Given the description of an element on the screen output the (x, y) to click on. 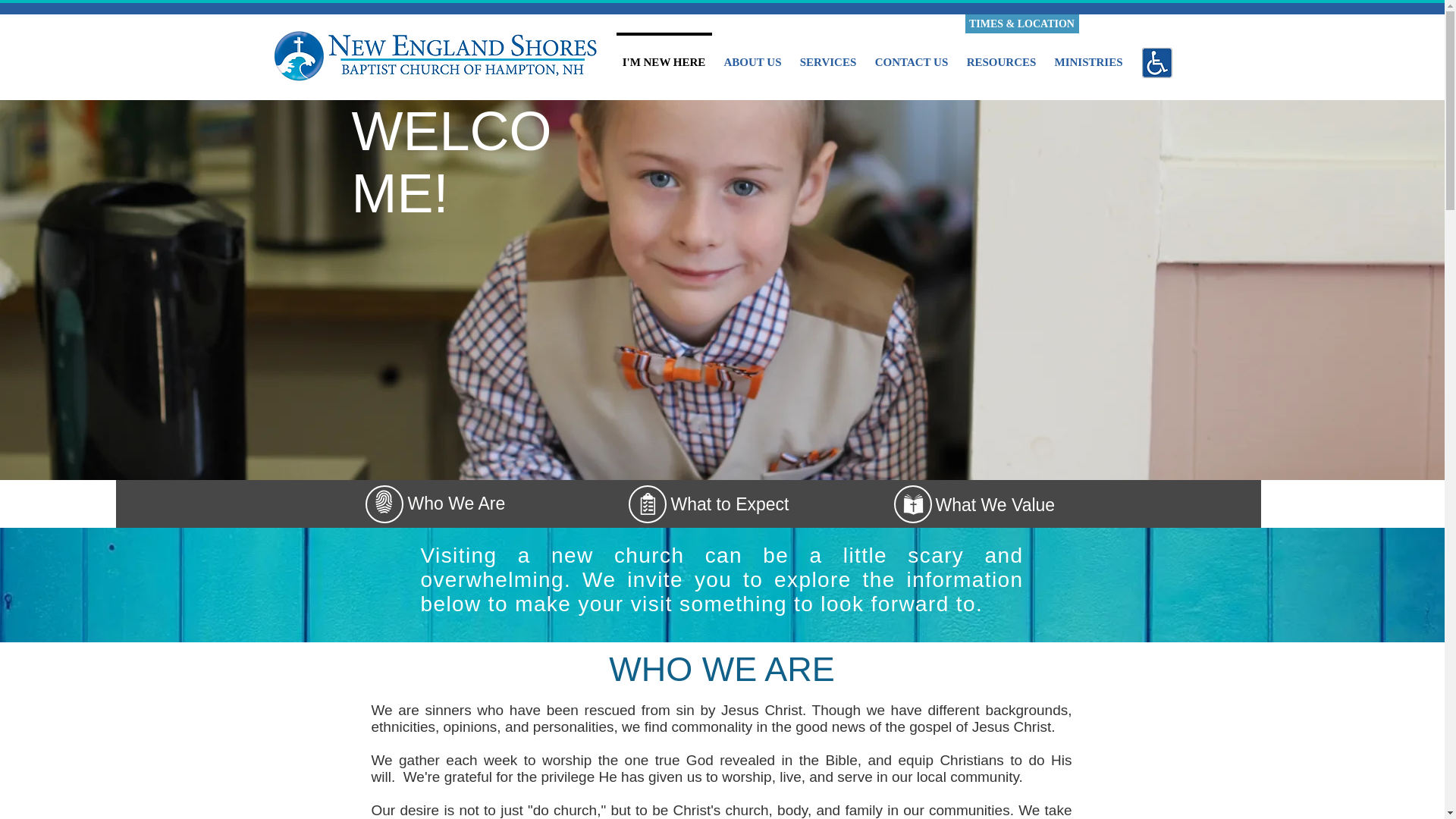
I'M NEW HERE (663, 54)
CONTACT US (912, 54)
SERVICES (827, 54)
Who We Are (456, 503)
What We Value (995, 505)
What to Expect (729, 504)
